Given the description of an element on the screen output the (x, y) to click on. 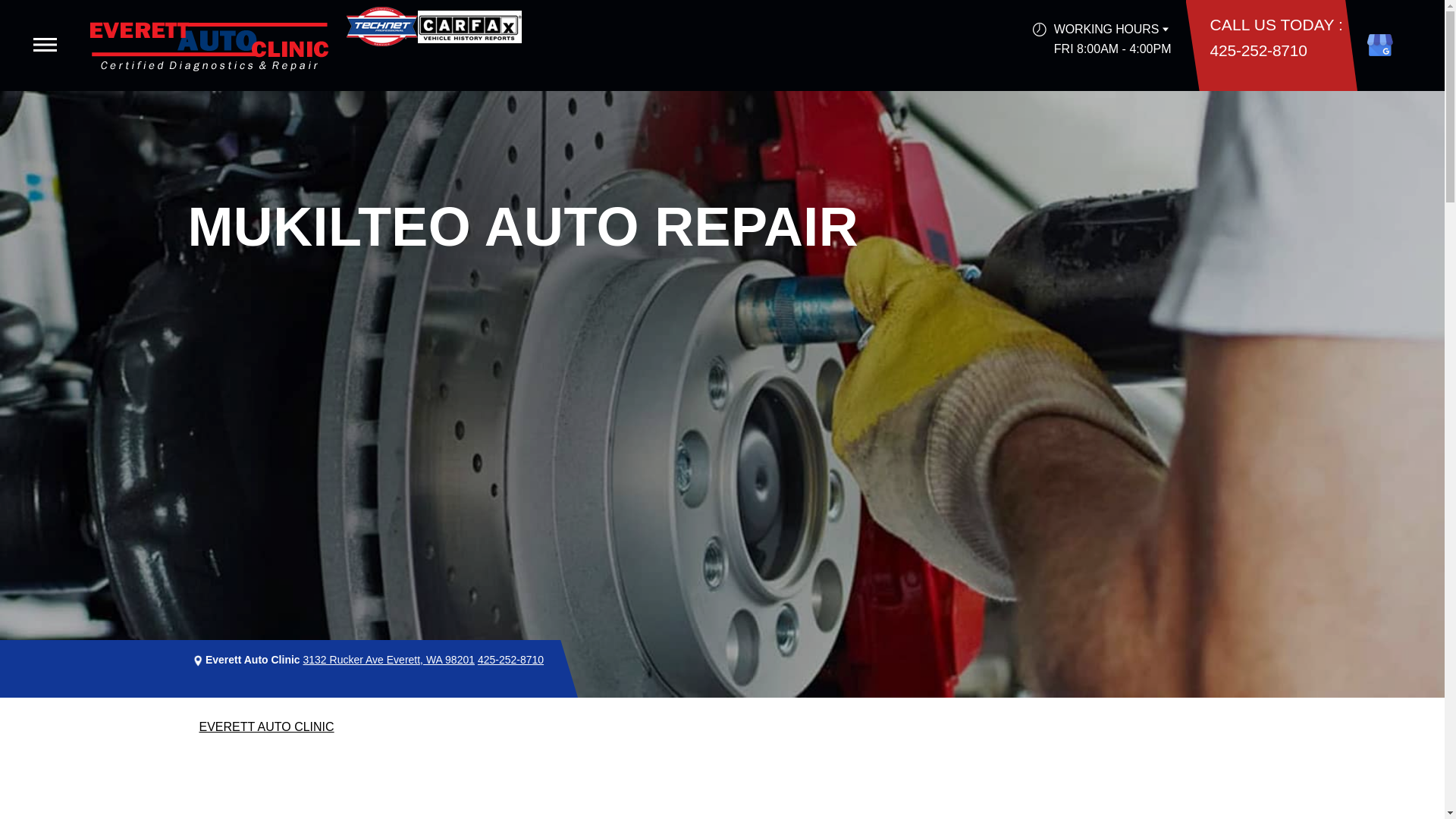
open-navigation-button (44, 44)
3132 Rucker Ave Everett, WA 98201 (388, 659)
425-252-8710 (510, 659)
EVERETT AUTO CLINIC (265, 726)
425-252-8710 (1258, 49)
